Given the description of an element on the screen output the (x, y) to click on. 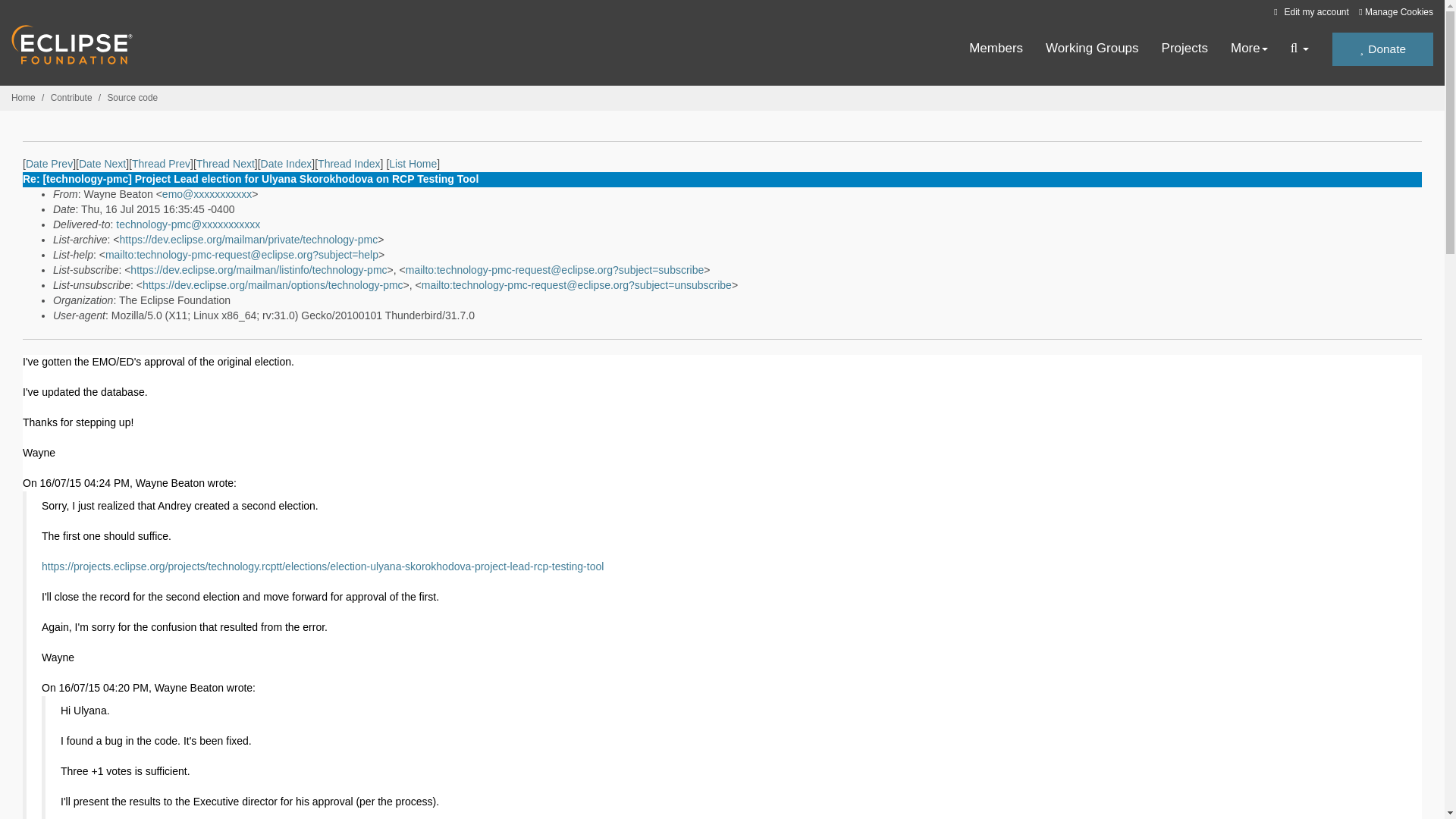
Edit my account (1309, 11)
Manage Cookies (1395, 12)
Donate (1382, 49)
Members (996, 48)
Projects (1184, 48)
Working Groups (1091, 48)
More (1249, 48)
